Given the description of an element on the screen output the (x, y) to click on. 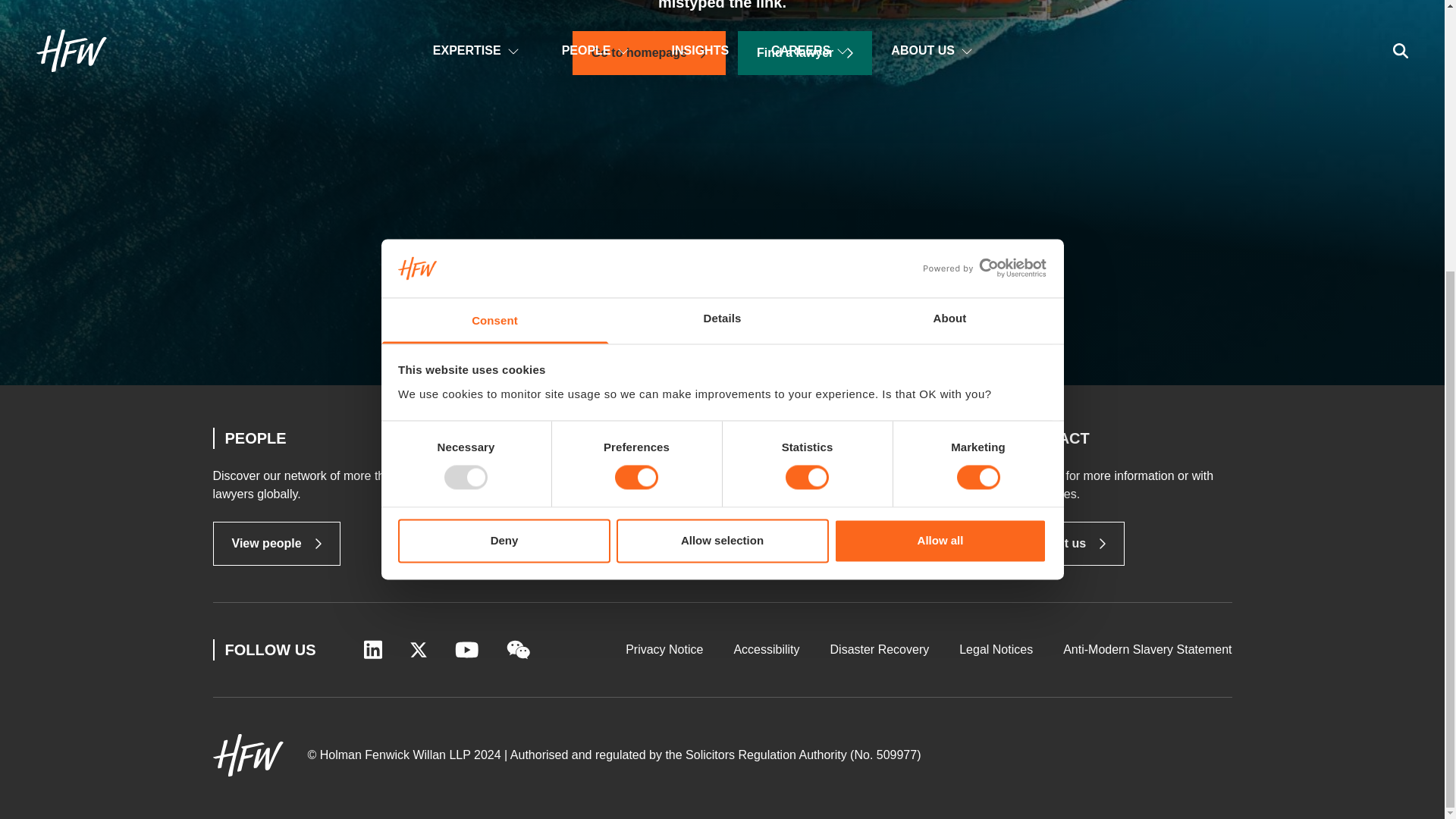
Allow selection (721, 143)
Deny (503, 143)
Allow all (940, 143)
